Given the description of an element on the screen output the (x, y) to click on. 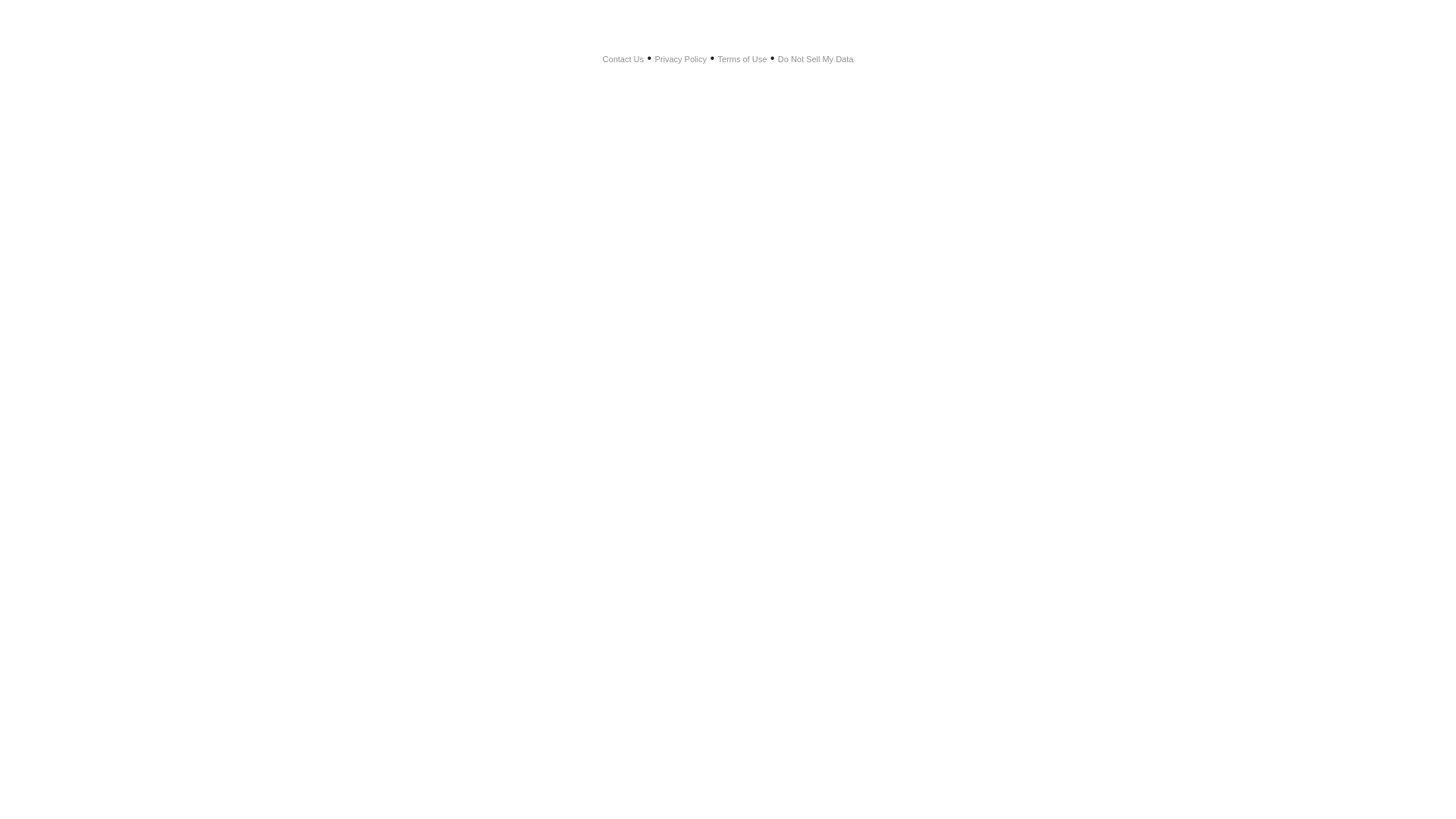
Privacy Policy Element type: text (680, 58)
Contact Us Element type: text (622, 58)
Terms of Use Element type: text (741, 58)
Do Not Sell My Data Element type: text (815, 58)
